Given the description of an element on the screen output the (x, y) to click on. 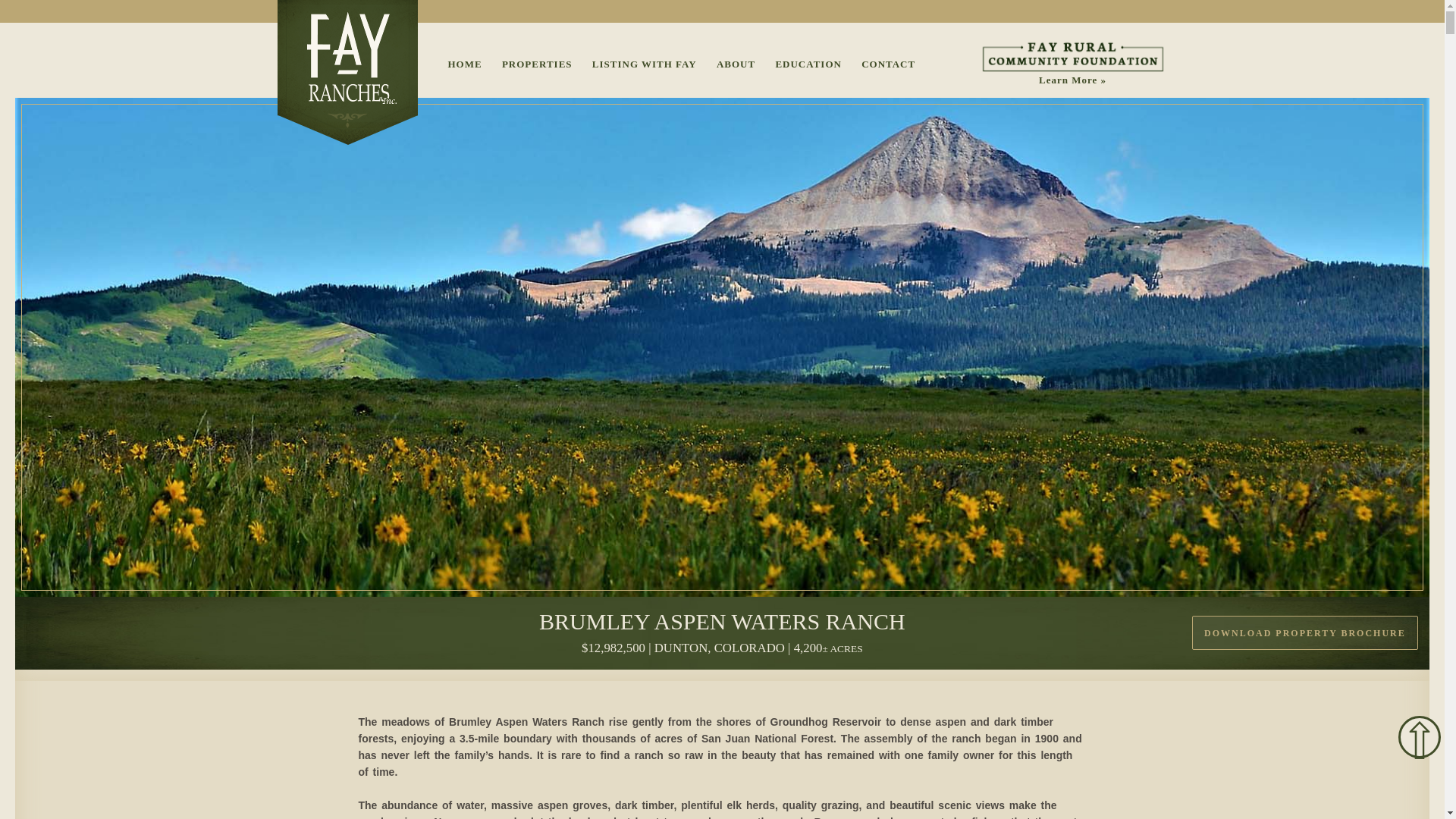
Ranches For Sale (537, 63)
Back to Top (1419, 736)
PROPERTIES (537, 63)
HOME (463, 63)
